Given the description of an element on the screen output the (x, y) to click on. 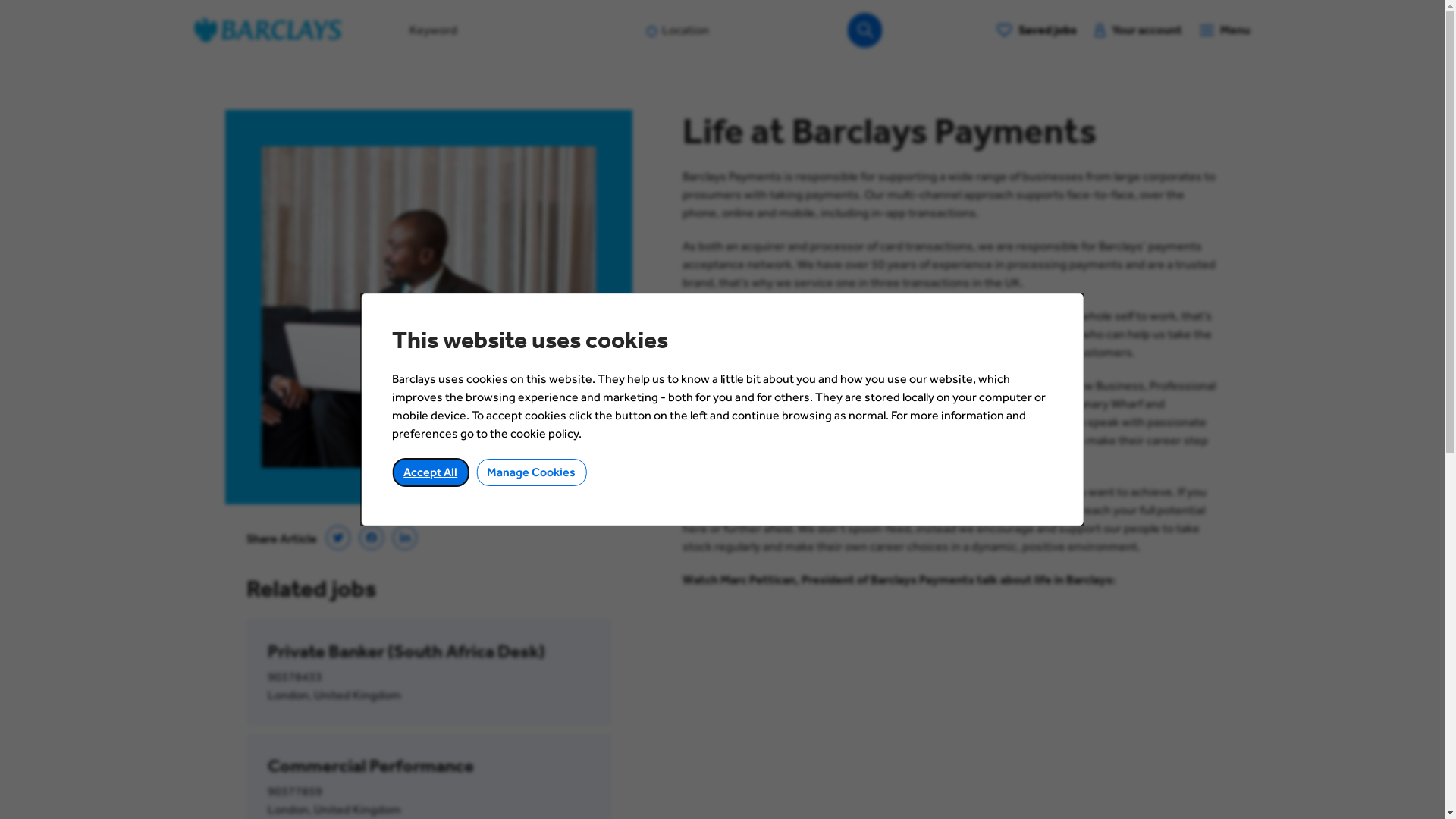
Facebook Element type: text (371, 537)
Search Element type: text (866, 29)
Saved jobs Element type: text (1036, 30)
Commercial Performance Element type: text (427, 766)
LinkedIn Element type: text (404, 537)
Twitter Element type: text (338, 537)
Accept All Element type: text (430, 472)
Private Banker (South Africa Desk) Element type: text (427, 652)
Your account Element type: text (1138, 30)
Manage Cookies Element type: text (531, 472)
